Given the description of an element on the screen output the (x, y) to click on. 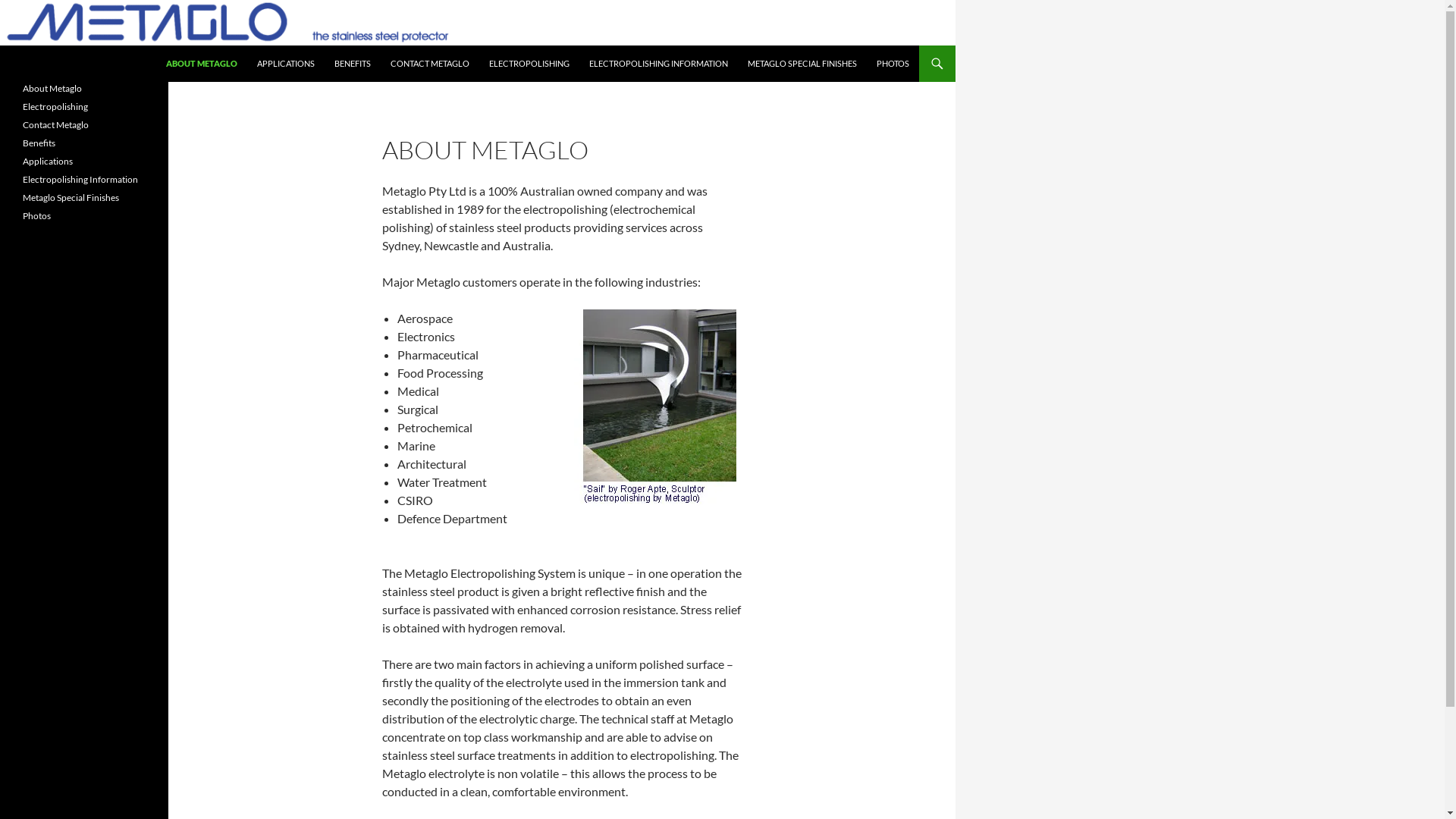
ABOUT METAGLO Element type: text (201, 63)
SKIP TO CONTENT Element type: text (165, 44)
Contact Metaglo Element type: text (55, 124)
Photos Element type: text (36, 215)
About Metaglo Element type: text (51, 88)
Benefits Element type: text (38, 142)
APPLICATIONS Element type: text (285, 63)
CONTACT METAGLO Element type: text (429, 63)
Electropolishing Information Element type: text (80, 179)
ELECTROPOLISHING Element type: text (529, 63)
Applications Element type: text (47, 160)
Metaglo Special Finishes Element type: text (70, 197)
Search Element type: text (3, 44)
BENEFITS Element type: text (352, 63)
METAGLO SPECIAL FINISHES Element type: text (802, 63)
PHOTOS Element type: text (892, 63)
ELECTROPOLISHING INFORMATION Element type: text (658, 63)
Metaglo Pty Ltd Element type: text (70, 63)
Electropolishing Element type: text (54, 106)
